Given the description of an element on the screen output the (x, y) to click on. 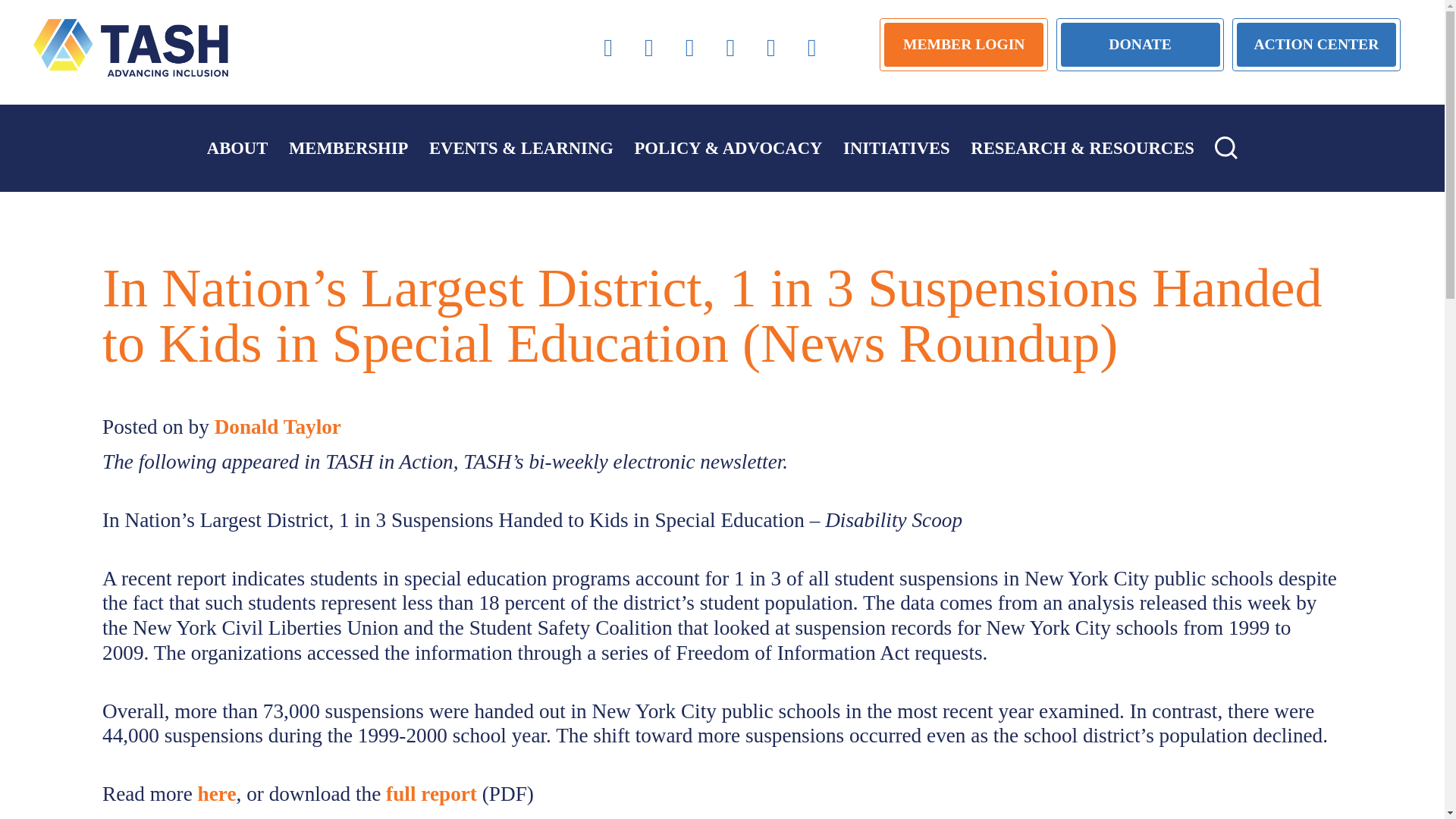
ACTION CENTER (1316, 44)
INITIATIVES (896, 148)
Action Center (1316, 44)
Member login (963, 44)
Donate (1140, 44)
TASH logo (130, 47)
DONATE (1140, 44)
ABOUT (236, 148)
MEMBERSHIP (347, 148)
MEMBER LOGIN (963, 44)
